Given the description of an element on the screen output the (x, y) to click on. 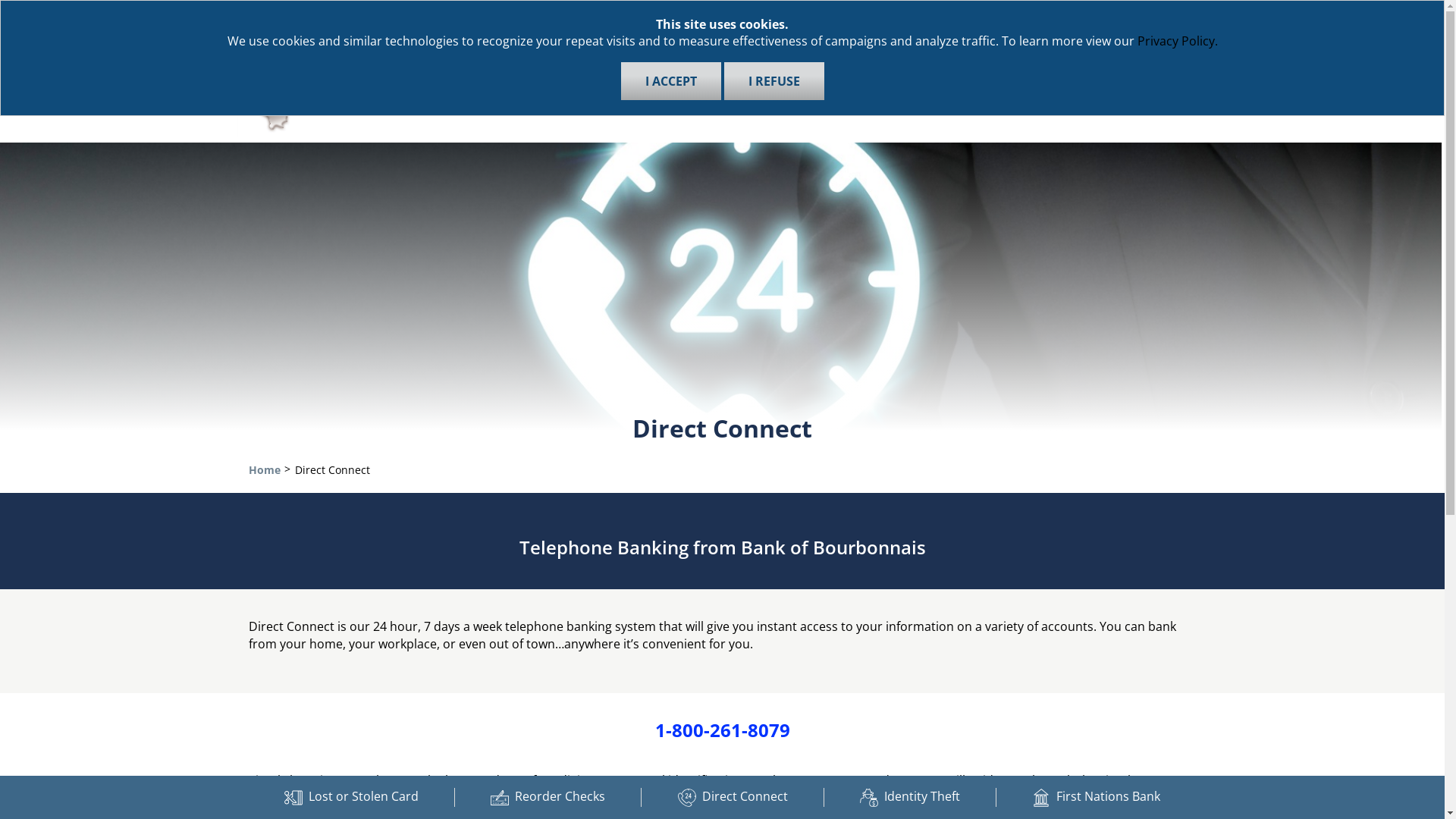
I REFUSE Element type: text (773, 81)
Reorder Checks Element type: text (548, 796)
Direct Connect Element type: text (732, 796)
Privacy Policy. Element type: text (1177, 40)
Bank of Bourbonnais Element type: hover (327, 85)
I ACCEPT Element type: text (670, 81)
Identity Theft Element type: text (910, 796)
Trust Services Element type: text (955, 75)
About Us Element type: text (714, 12)
Disclosures Element type: text (948, 12)
Lost or Stolen Card Element type: text (351, 796)
Investment Element type: text (719, 75)
Digital Banking Element type: text (1084, 75)
Contact Us Element type: text (638, 12)
Home Element type: text (264, 469)
1-800-261-8079 Element type: text (623, 797)
Locations Element type: text (788, 12)
Personal Element type: text (537, 75)
First Nations Bank Element type: text (1095, 796)
ONLINE BANKING LOGIN Element type: text (1091, 14)
1-800-261-8079 Element type: text (722, 729)
Title Services Element type: text (832, 75)
Calculators Element type: text (866, 12)
Business Element type: text (624, 75)
